Given the description of an element on the screen output the (x, y) to click on. 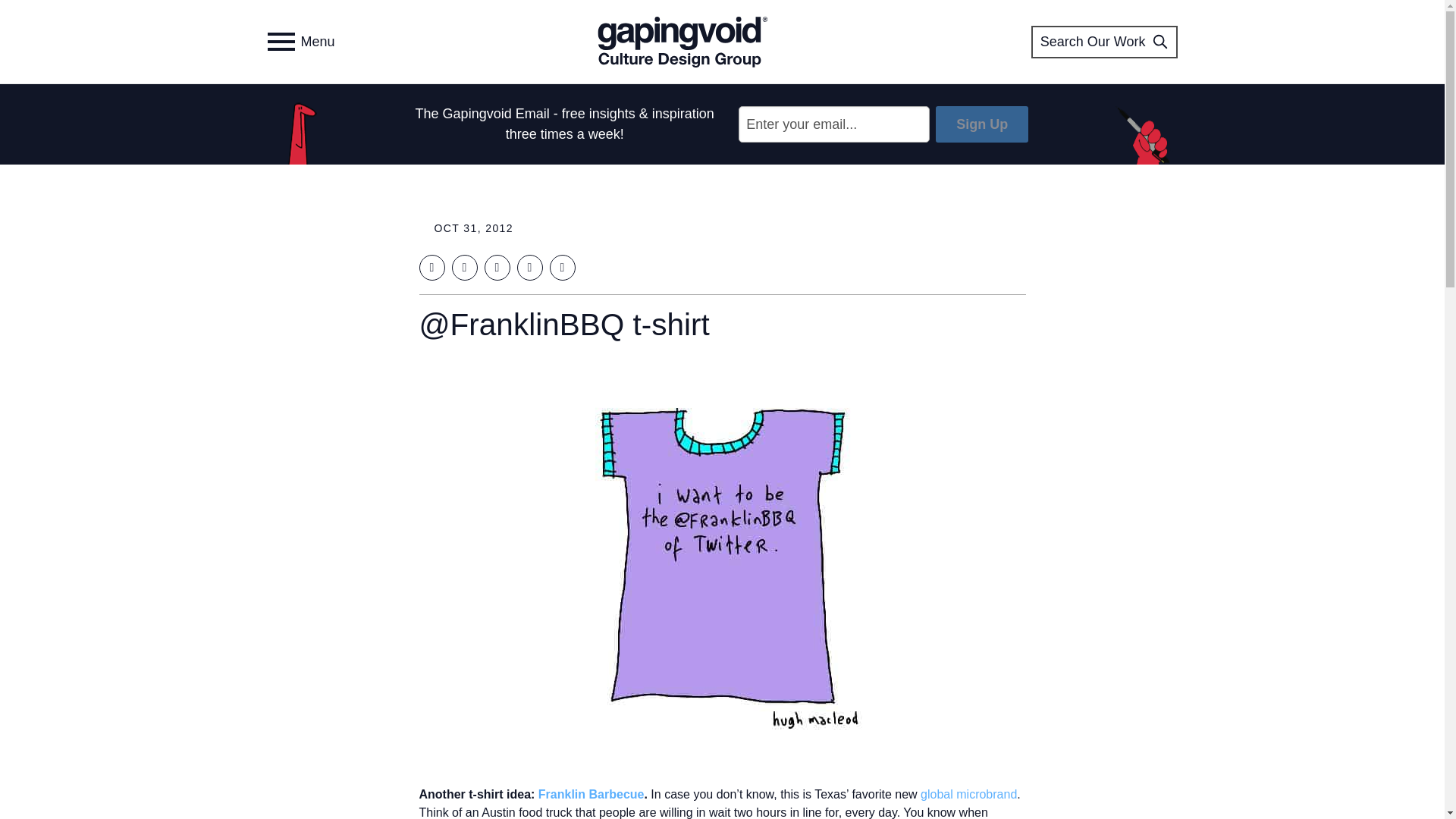
Share this on Facebook (431, 267)
Franklin Barbecue (591, 793)
Enter your email... (834, 124)
Add this to LinkedIn (496, 267)
global microbrand (968, 793)
Submit this to Pinterest (529, 267)
Tweet this ! (464, 267)
Email this  (561, 267)
Sign Up (981, 124)
Sign Up (981, 124)
Gapingvoid (682, 41)
